Given the description of an element on the screen output the (x, y) to click on. 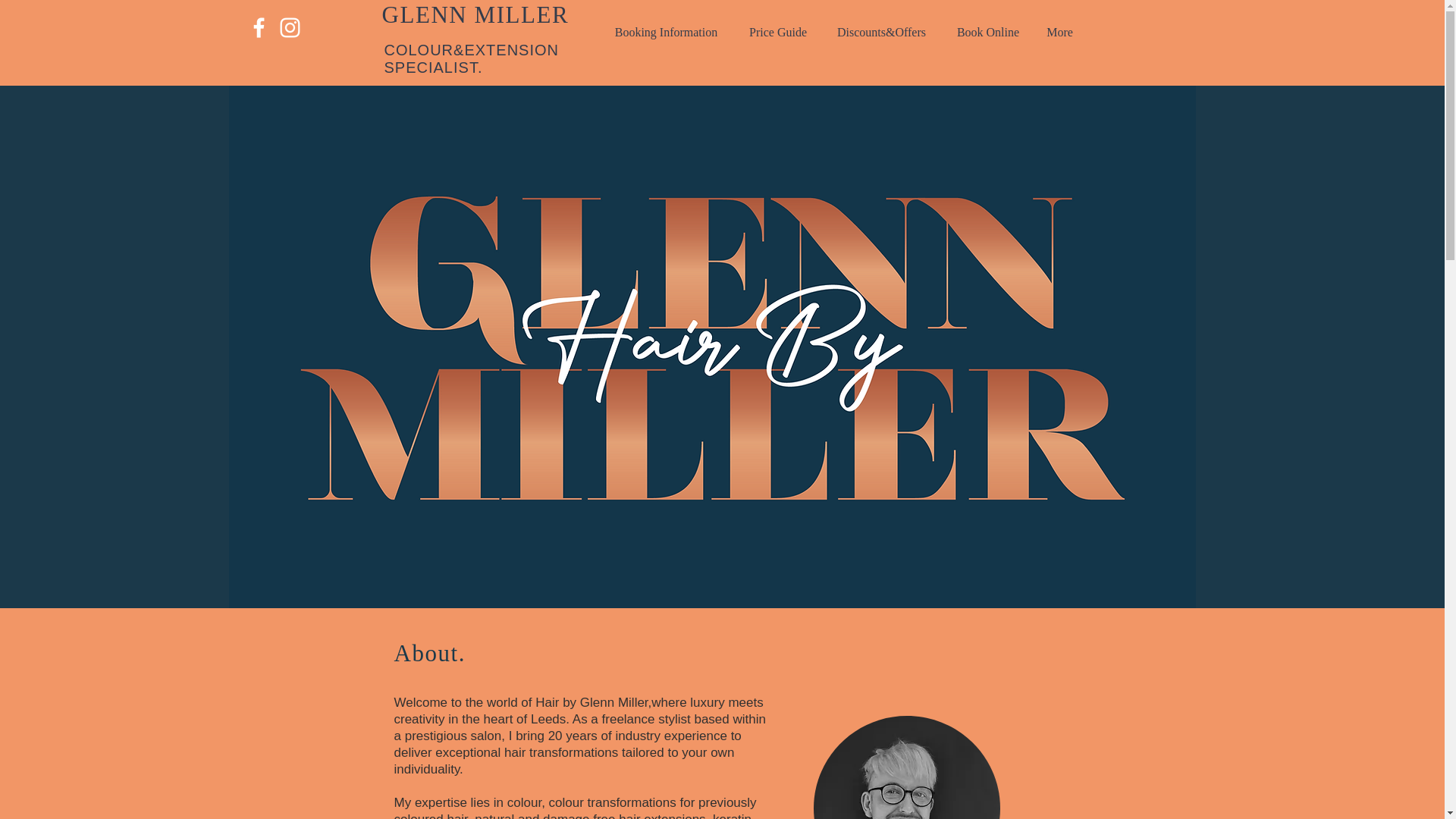
Book Online (987, 32)
About.  (433, 652)
GLENN MILLER (475, 14)
Price Guide (778, 32)
Booking Information (665, 32)
